Given the description of an element on the screen output the (x, y) to click on. 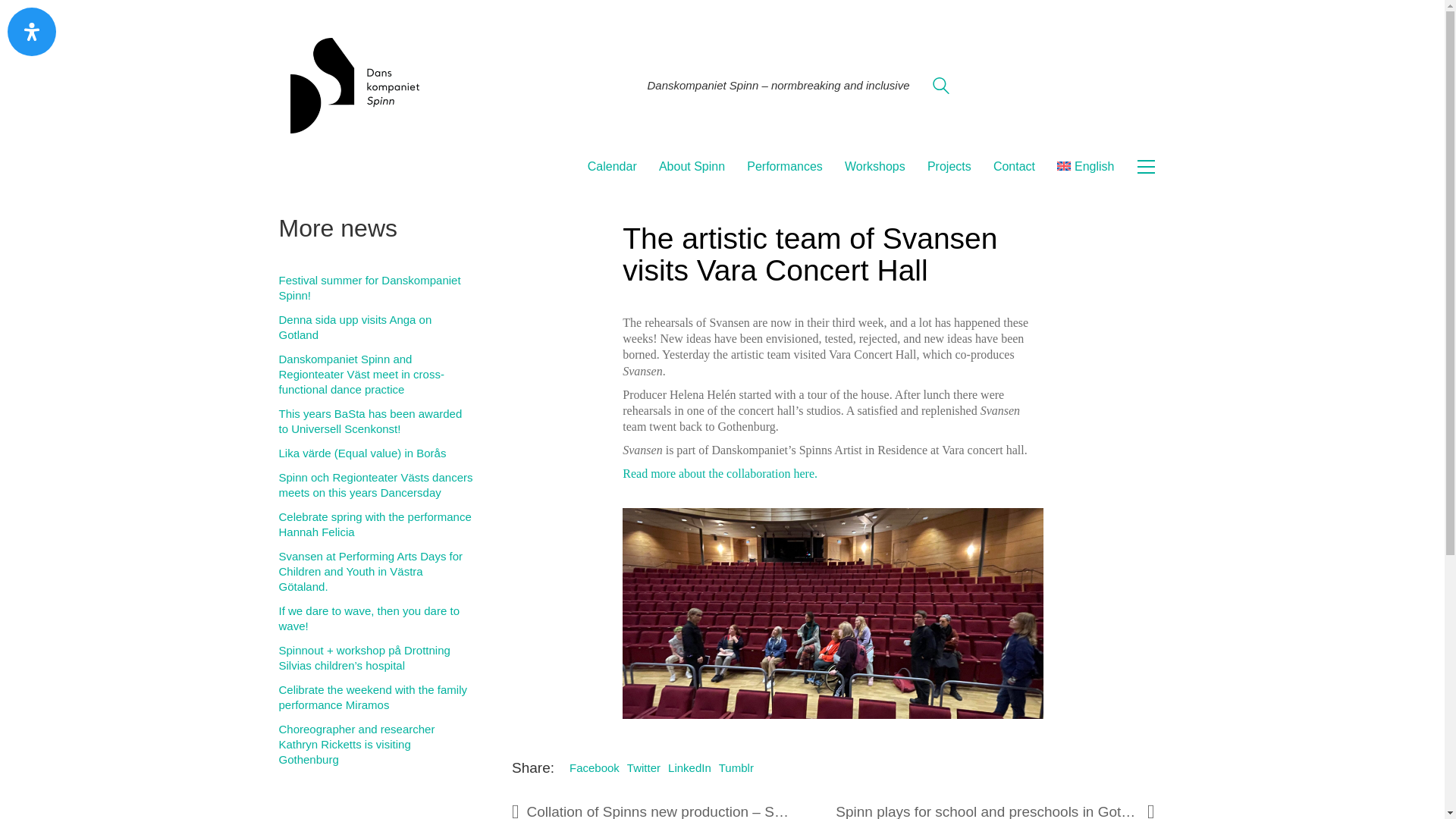
Denna sida upp visits Anga on Gotland (376, 327)
Projects (949, 166)
If we dare to wave, then you dare to wave! (376, 618)
Facebook (594, 767)
Twitter (644, 767)
Workshops (874, 166)
Festival summer for Danskompaniet Spinn! (376, 287)
Celebrate spring with the performance Hannah Felicia (376, 524)
Calendar (612, 166)
Accessibility (31, 31)
Tumblr (736, 767)
Contact (1013, 166)
Spinn plays for school and preschools in Gothenburg (994, 808)
About Spinn (692, 166)
